Given the description of an element on the screen output the (x, y) to click on. 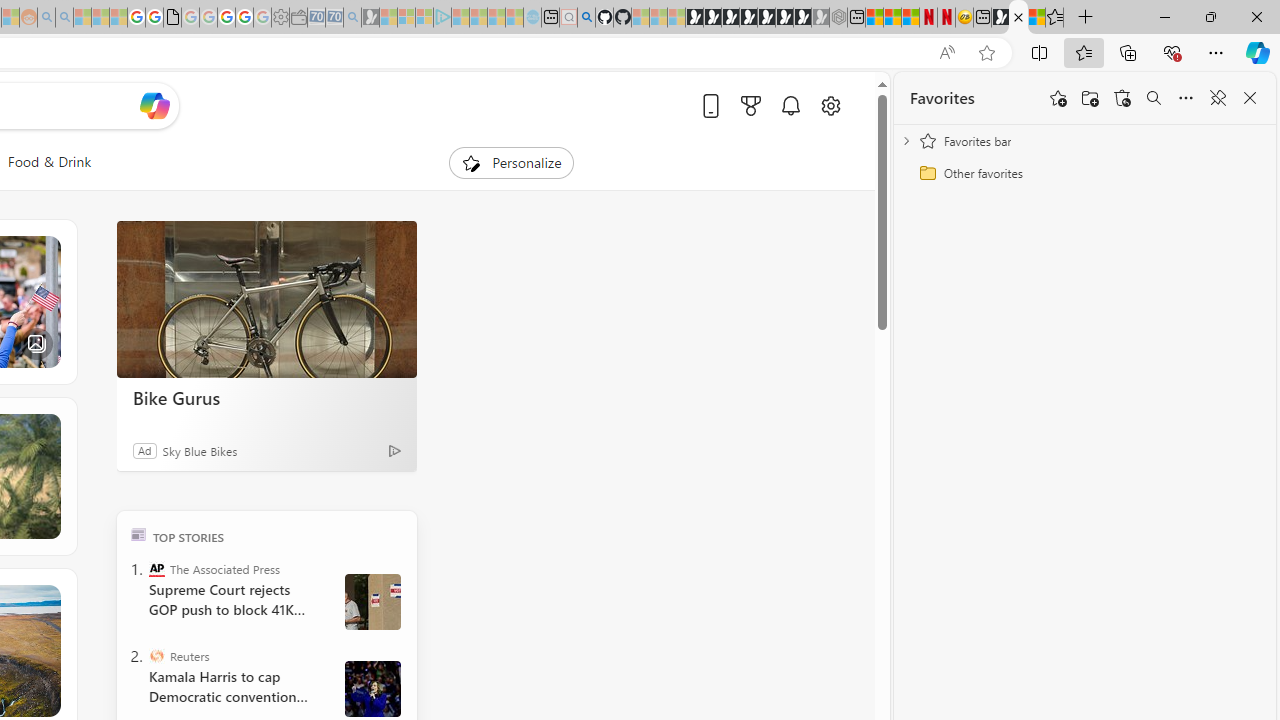
Search favorites (1153, 98)
